Given the description of an element on the screen output the (x, y) to click on. 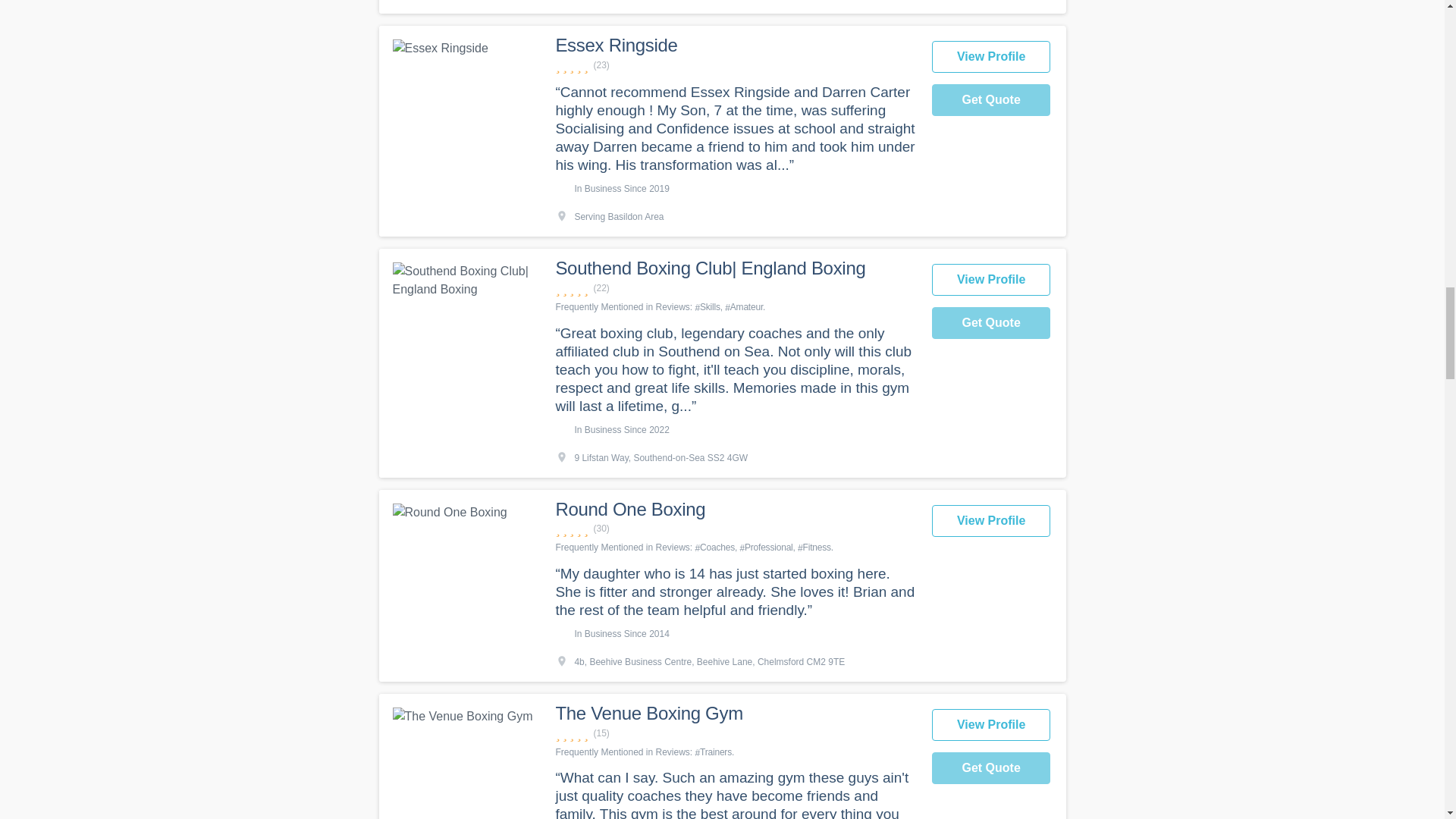
4.8 (734, 288)
4.7 (734, 733)
4.7 (734, 65)
5.0 (734, 528)
